Given the description of an element on the screen output the (x, y) to click on. 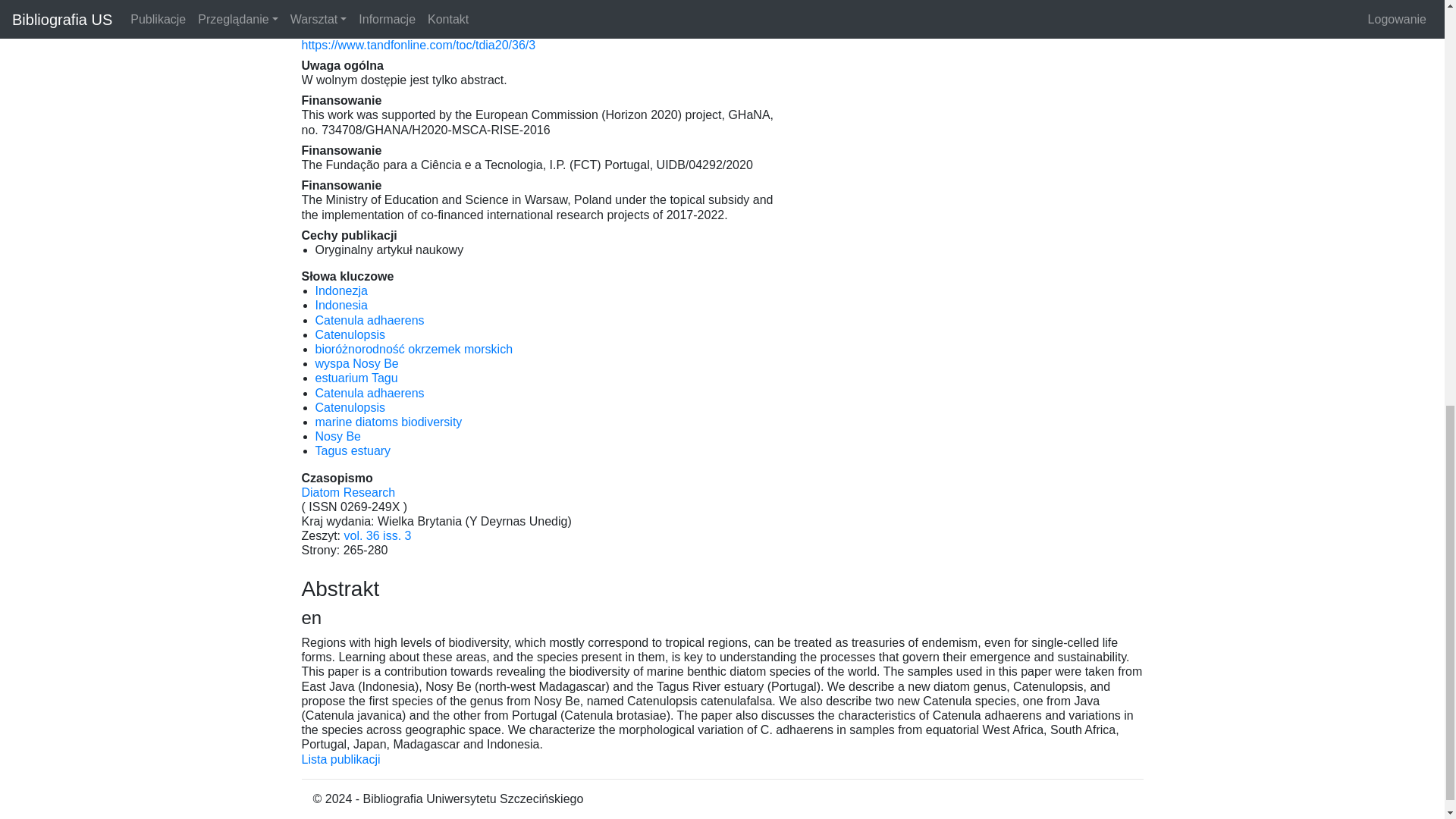
Indonesia (341, 305)
pl (370, 319)
pl (350, 334)
wyspa Nosy Be (356, 363)
Catenulopsis (350, 334)
marine diatoms biodiversity (389, 421)
Catenula adhaerens (370, 392)
Catenula adhaerens (370, 319)
Indonezja (341, 290)
pl (356, 363)
pl (341, 290)
Catenulopsis (350, 407)
pl (414, 349)
estuarium Tagu (356, 377)
pl (356, 377)
